Given the description of an element on the screen output the (x, y) to click on. 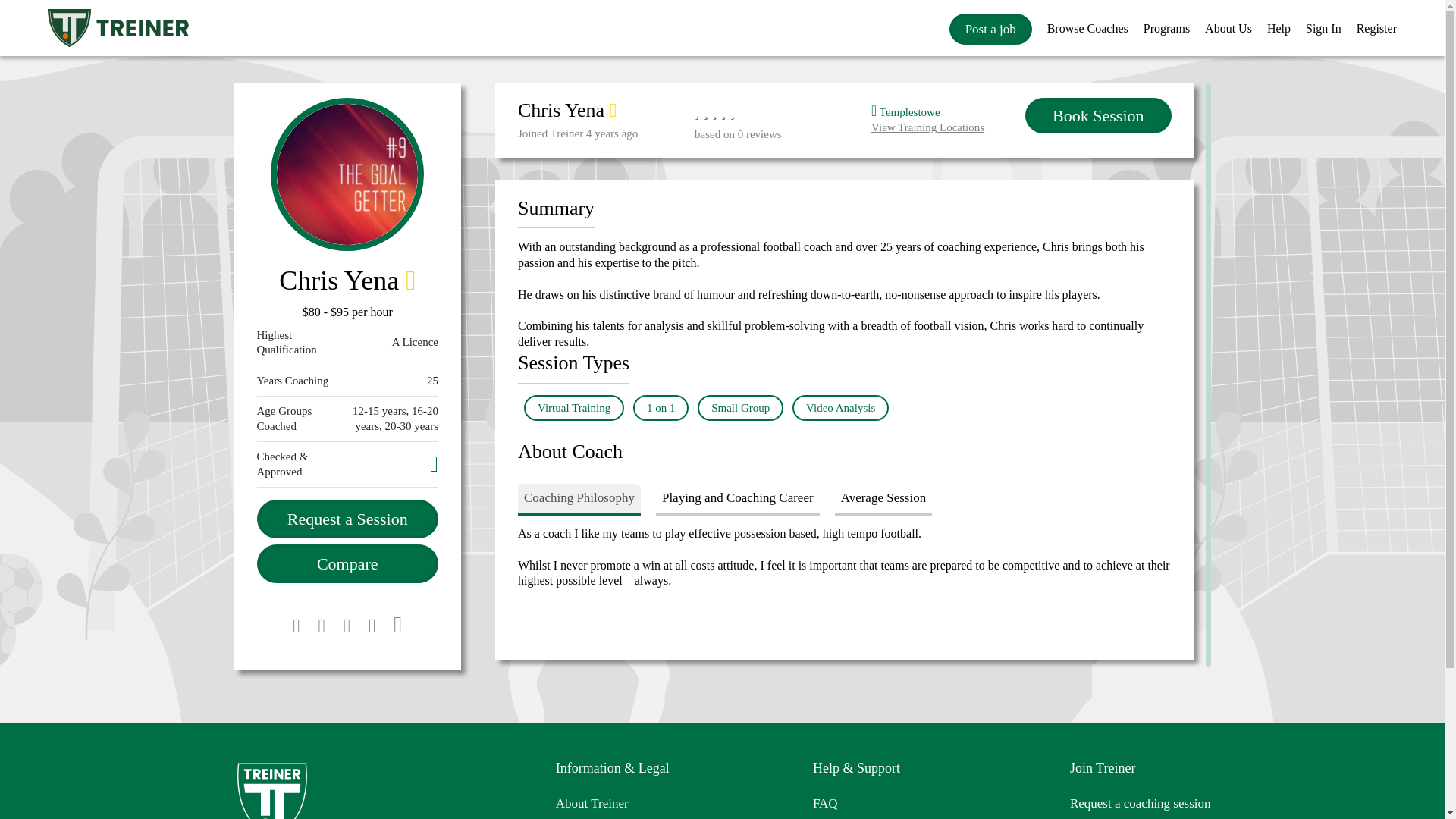
Programs (1165, 28)
Request a Session (347, 518)
1 on 1 (947, 119)
Virtual Training (660, 407)
Average Session (574, 407)
Coaching Philosophy (883, 499)
Book Session (579, 499)
Compare (1097, 115)
About Us (347, 563)
